Given the description of an element on the screen output the (x, y) to click on. 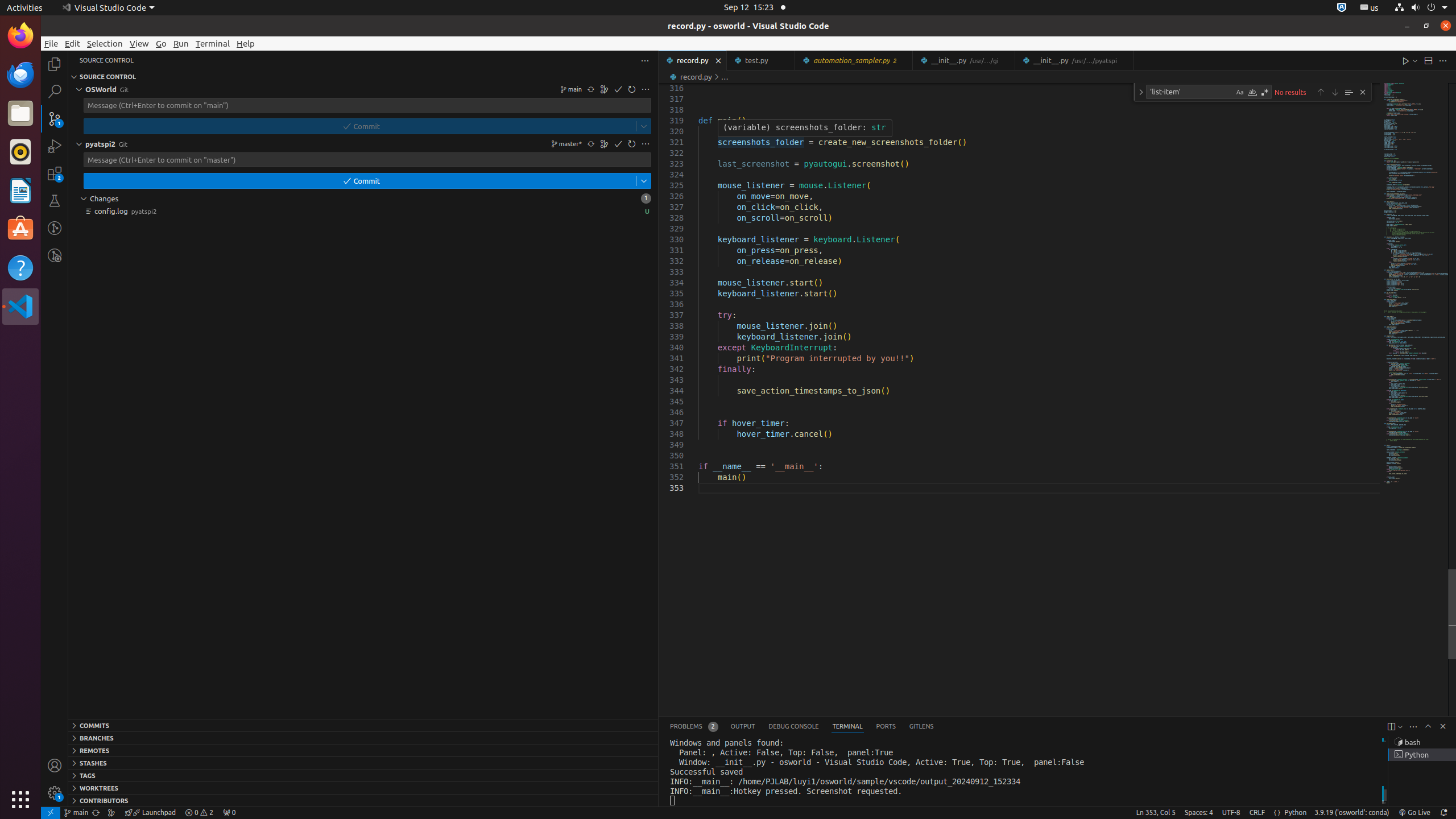
No Ports Forwarded Element type: push-button (228, 812)
OSWorld Git Element type: tree-item (363, 89)
Contributors Section Element type: push-button (363, 799)
Source Control (Ctrl+Shift+G G) - 1 pending changes Element type: page-tab (54, 118)
